Given the description of an element on the screen output the (x, y) to click on. 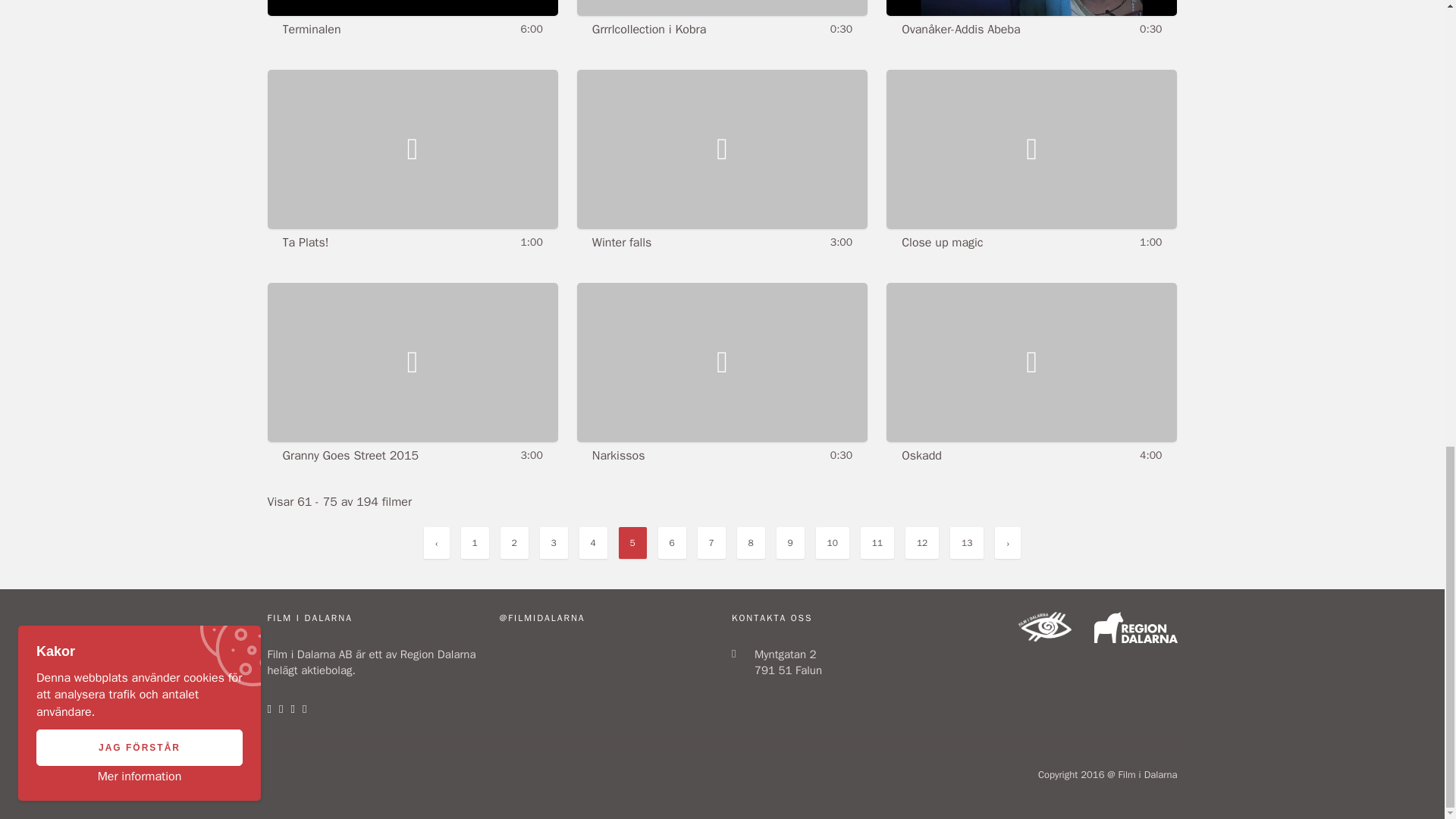
Till startsidan (1043, 637)
Till Region Dalarna (1134, 639)
